Given the description of an element on the screen output the (x, y) to click on. 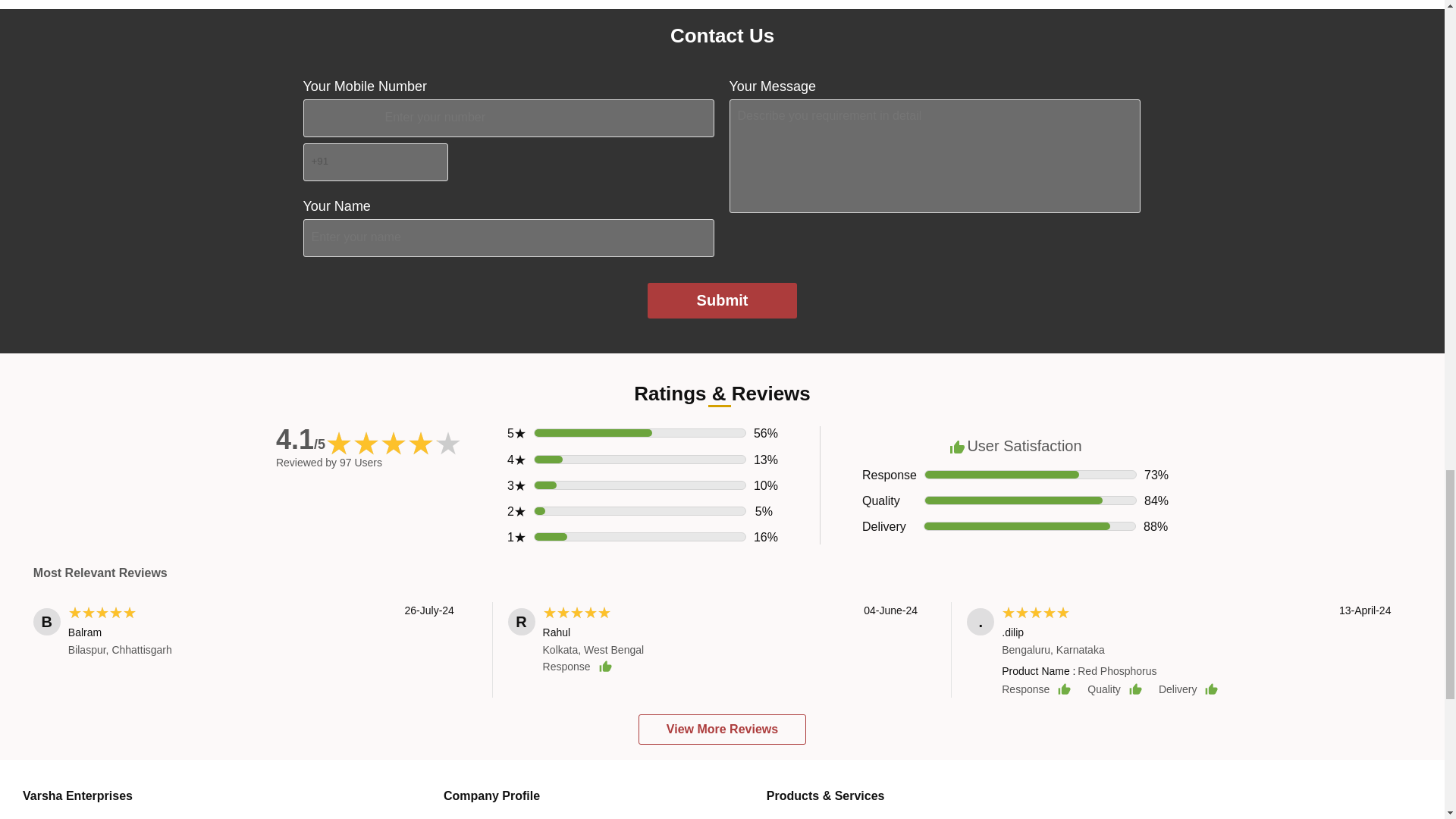
Submit (722, 300)
4.1 out of 5 Votes (300, 439)
